Given the description of an element on the screen output the (x, y) to click on. 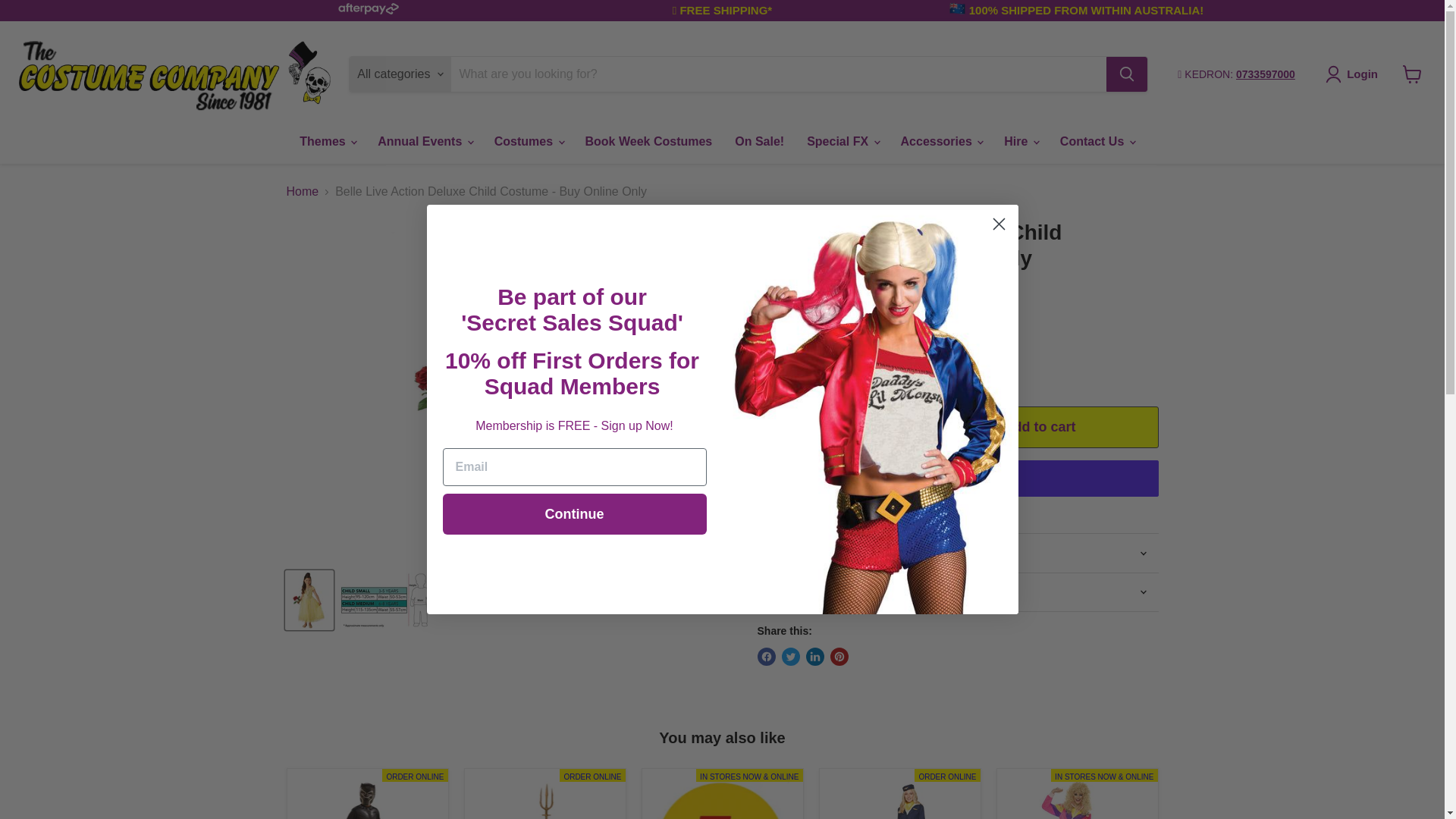
1 (833, 426)
Login (1354, 74)
tel:0733597000 (1265, 73)
0733597000 (1265, 73)
View cart (1411, 73)
